Given the description of an element on the screen output the (x, y) to click on. 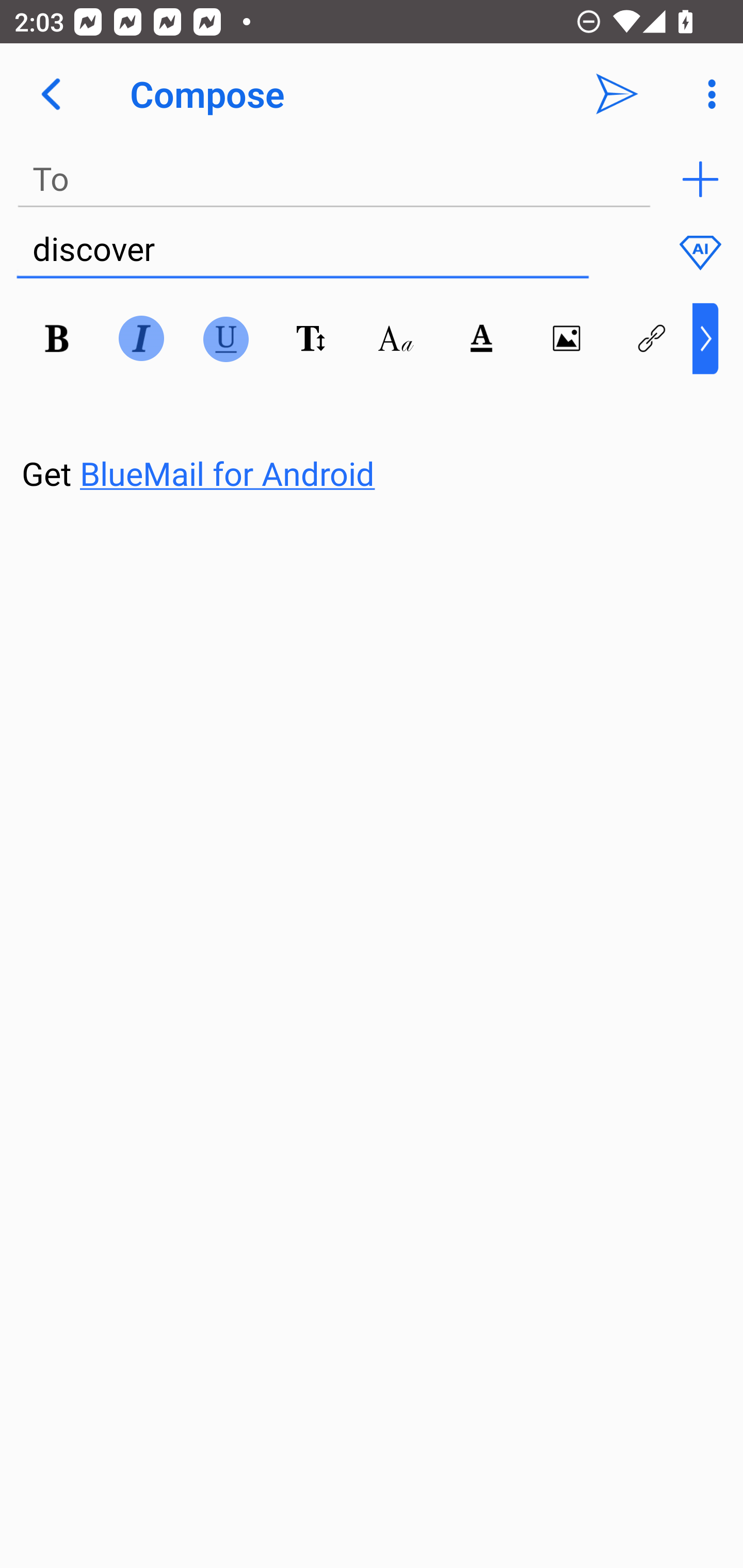
Navigate up (50, 93)
Send (616, 93)
More Options (706, 93)
To (334, 179)
Add recipient (To) (699, 179)
discover (302, 249)


⁣Get BlueMail for Android ​ (355, 435)
